Given the description of an element on the screen output the (x, y) to click on. 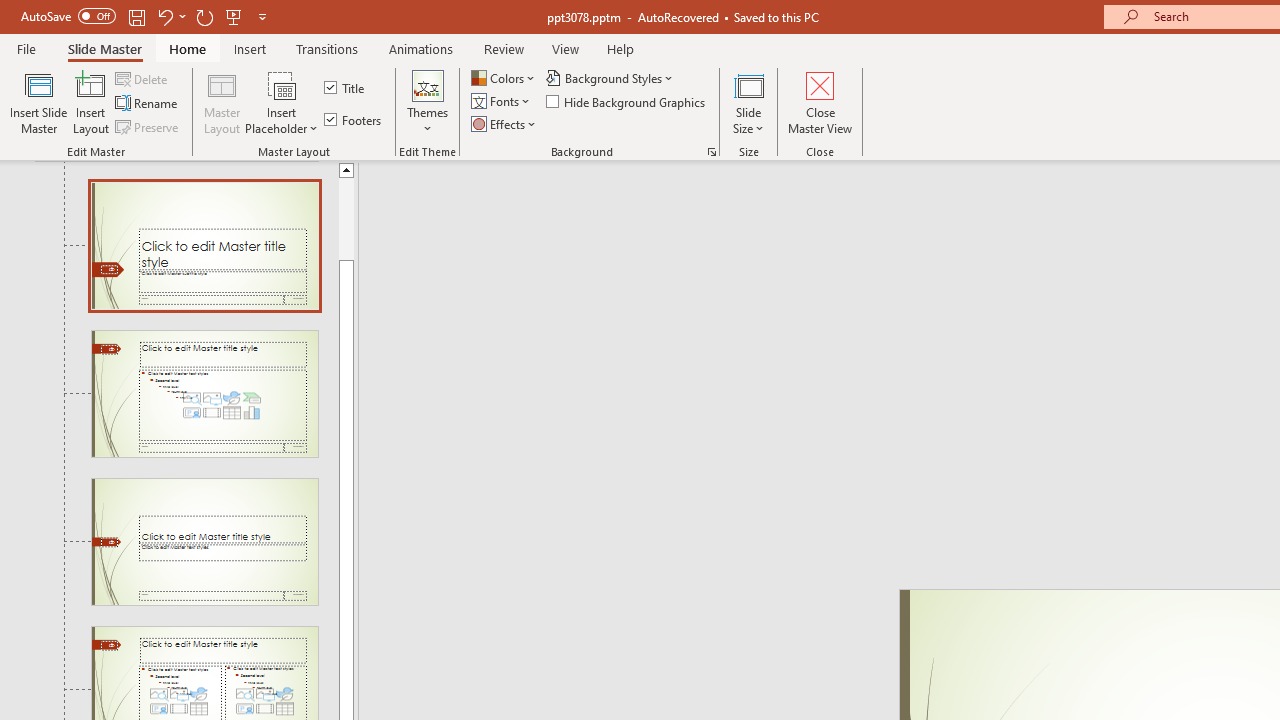
Hide Background Graphics (626, 101)
Slide Size (749, 102)
Content (282, 84)
Fonts (502, 101)
Colors (504, 78)
Slide Title and Content Layout: used by no slides (204, 394)
